Given the description of an element on the screen output the (x, y) to click on. 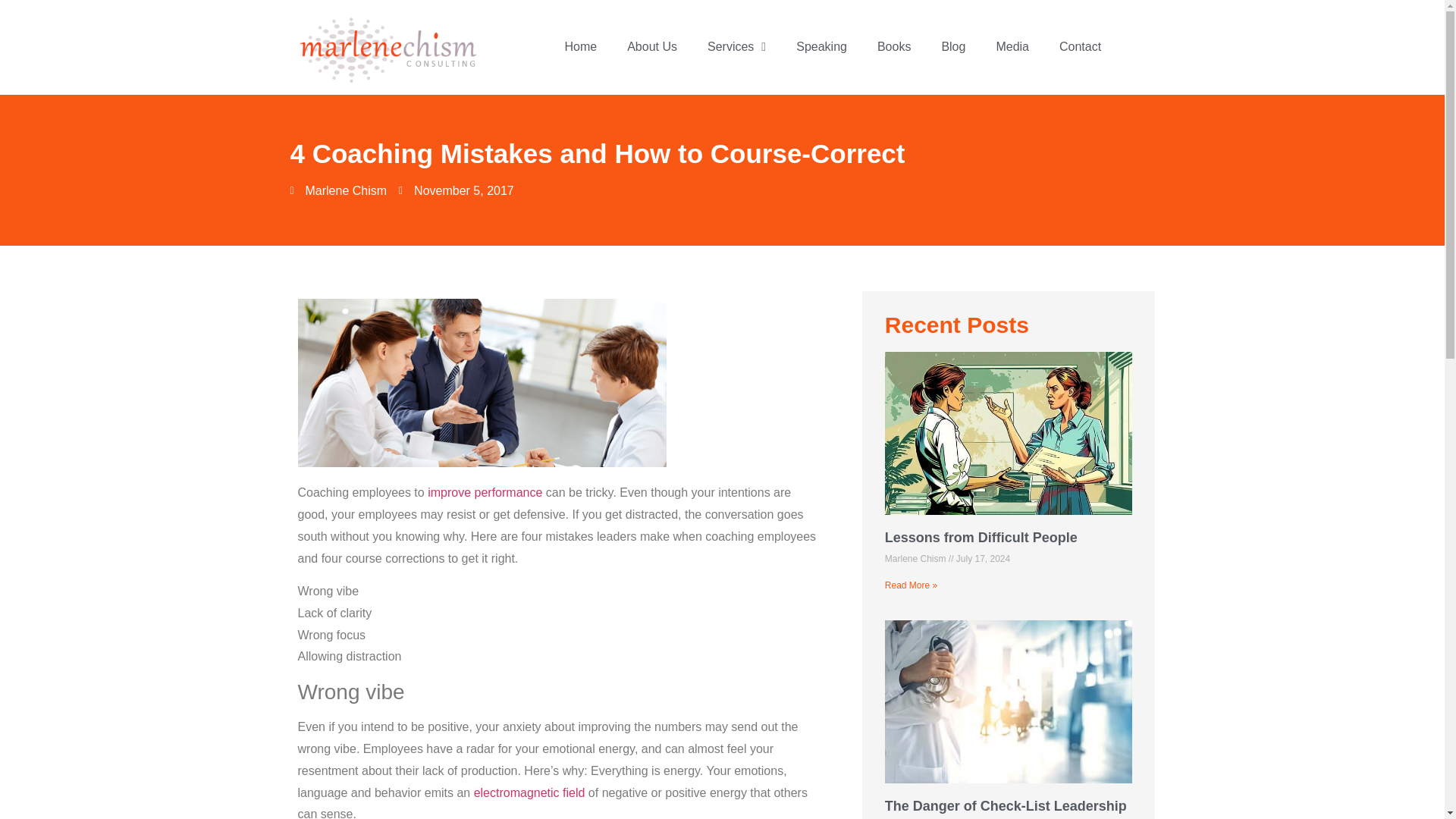
The Danger of Check-List Leadership (1005, 806)
Lessons from Difficult People (981, 537)
improve performance (487, 492)
Blog (952, 46)
Contact (1079, 46)
Books (893, 46)
Speaking (820, 46)
Media (1011, 46)
Services (736, 46)
electromagnetic field (529, 792)
About Us (652, 46)
Home (579, 46)
